Given the description of an element on the screen output the (x, y) to click on. 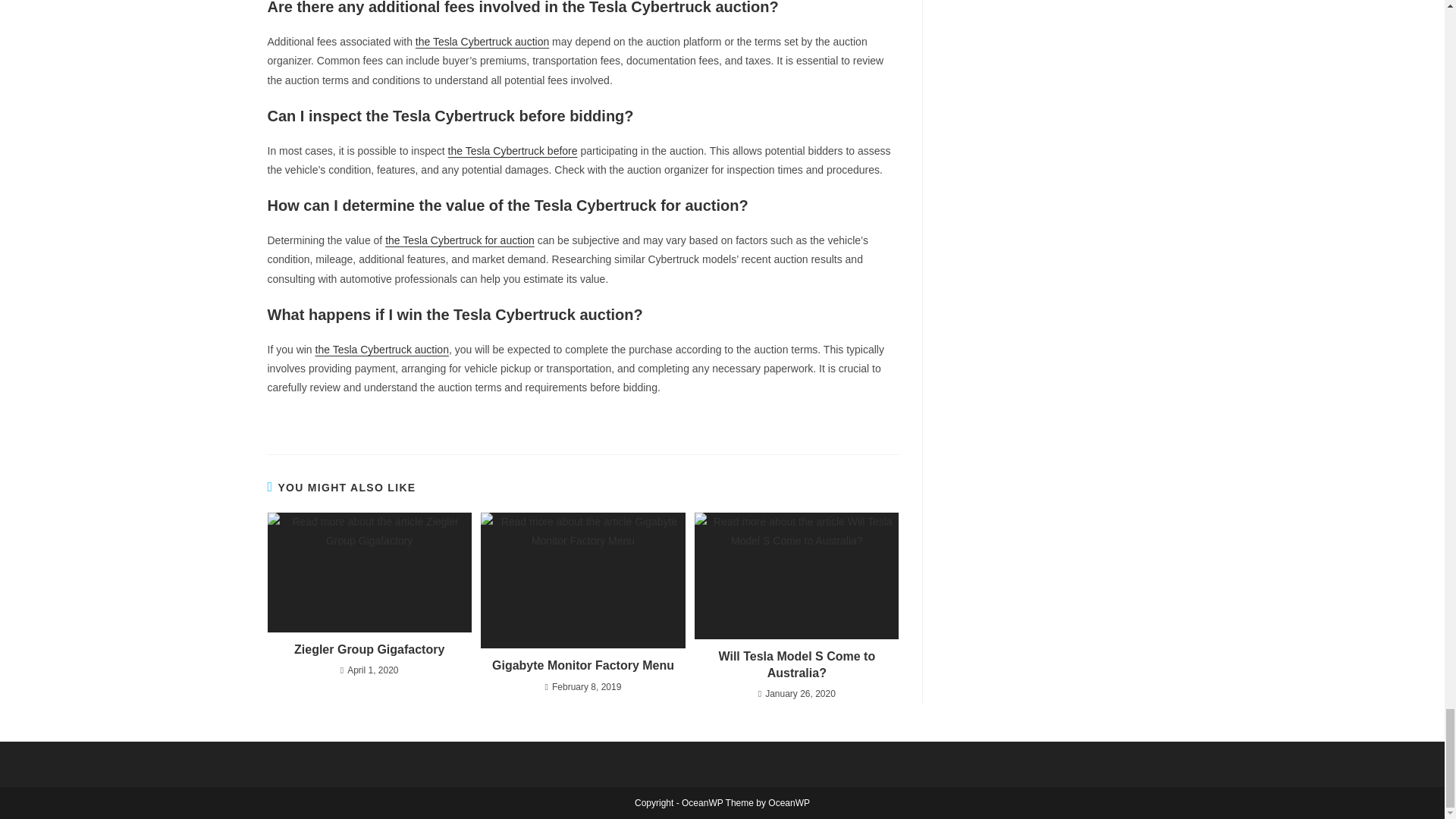
the Tesla Cybertruck before (513, 150)
the Tesla Cybertruck auction (481, 41)
